Given the description of an element on the screen output the (x, y) to click on. 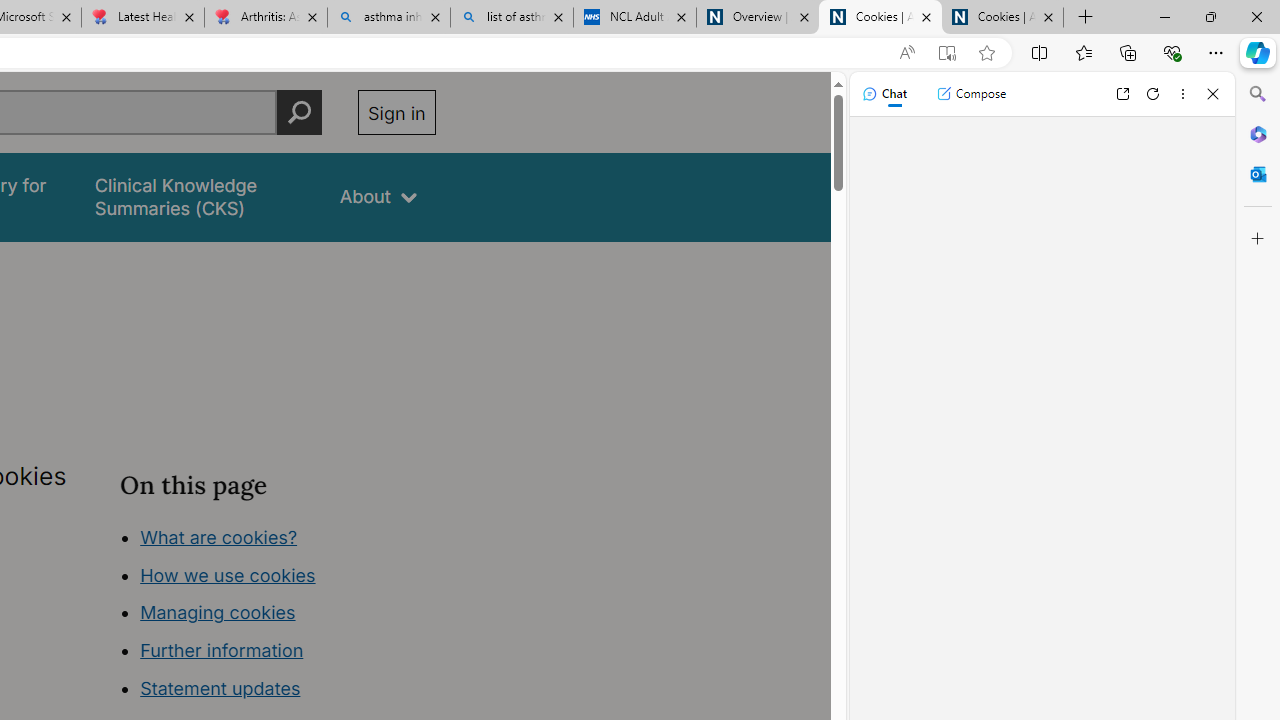
Further information (221, 650)
How we use cookies (227, 574)
list of asthma inhalers uk - Search (511, 17)
Arthritis: Ask Health Professionals (265, 17)
Managing cookies (217, 612)
